Given the description of an element on the screen output the (x, y) to click on. 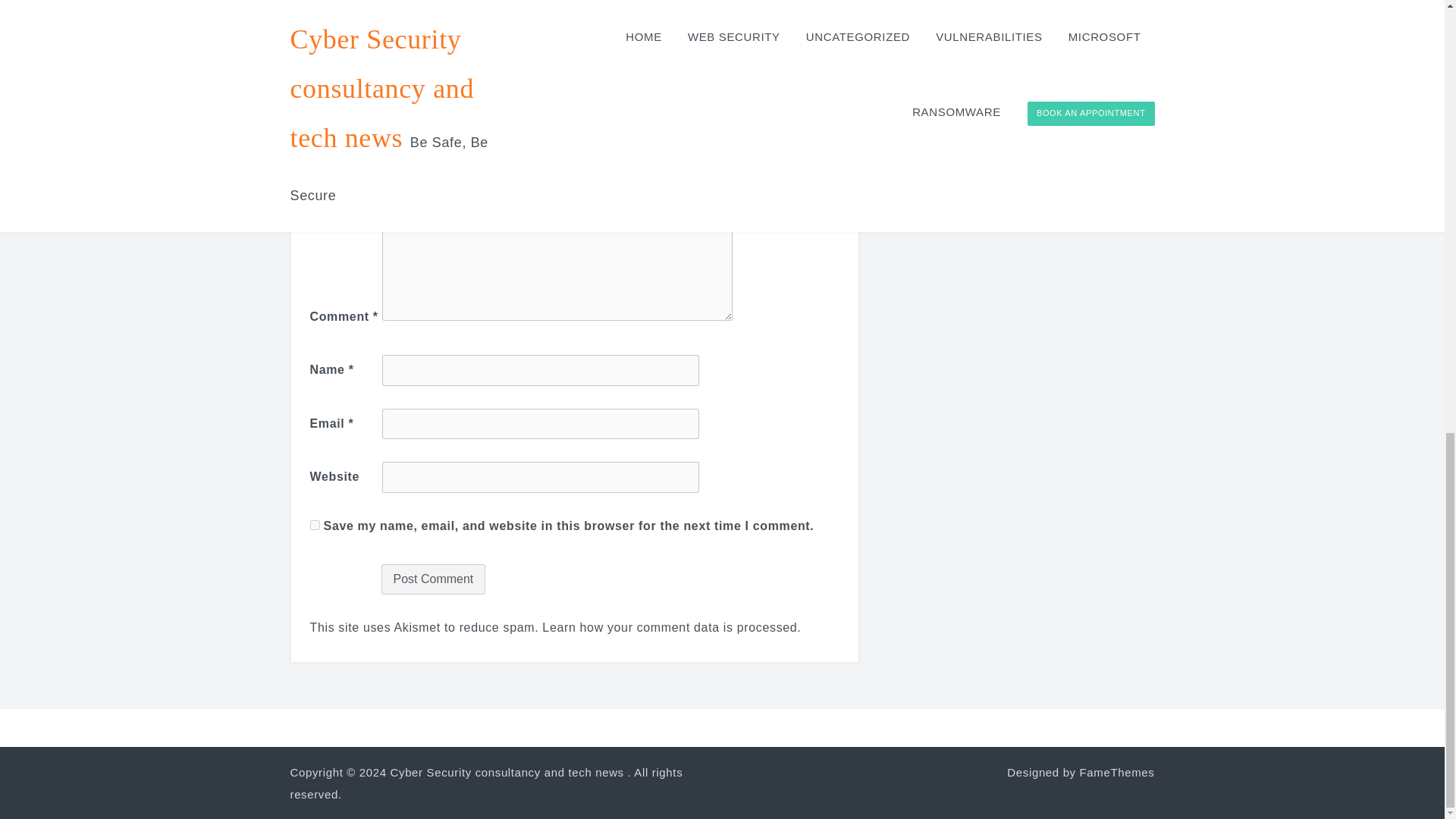
Learn how your comment data is processed (668, 626)
yes (313, 524)
Post Comment (432, 579)
Cyber Security consultancy and tech news (507, 771)
Post Comment (432, 579)
Cyber Security consultancy and tech news (507, 771)
FameThemes (1117, 771)
